Given the description of an element on the screen output the (x, y) to click on. 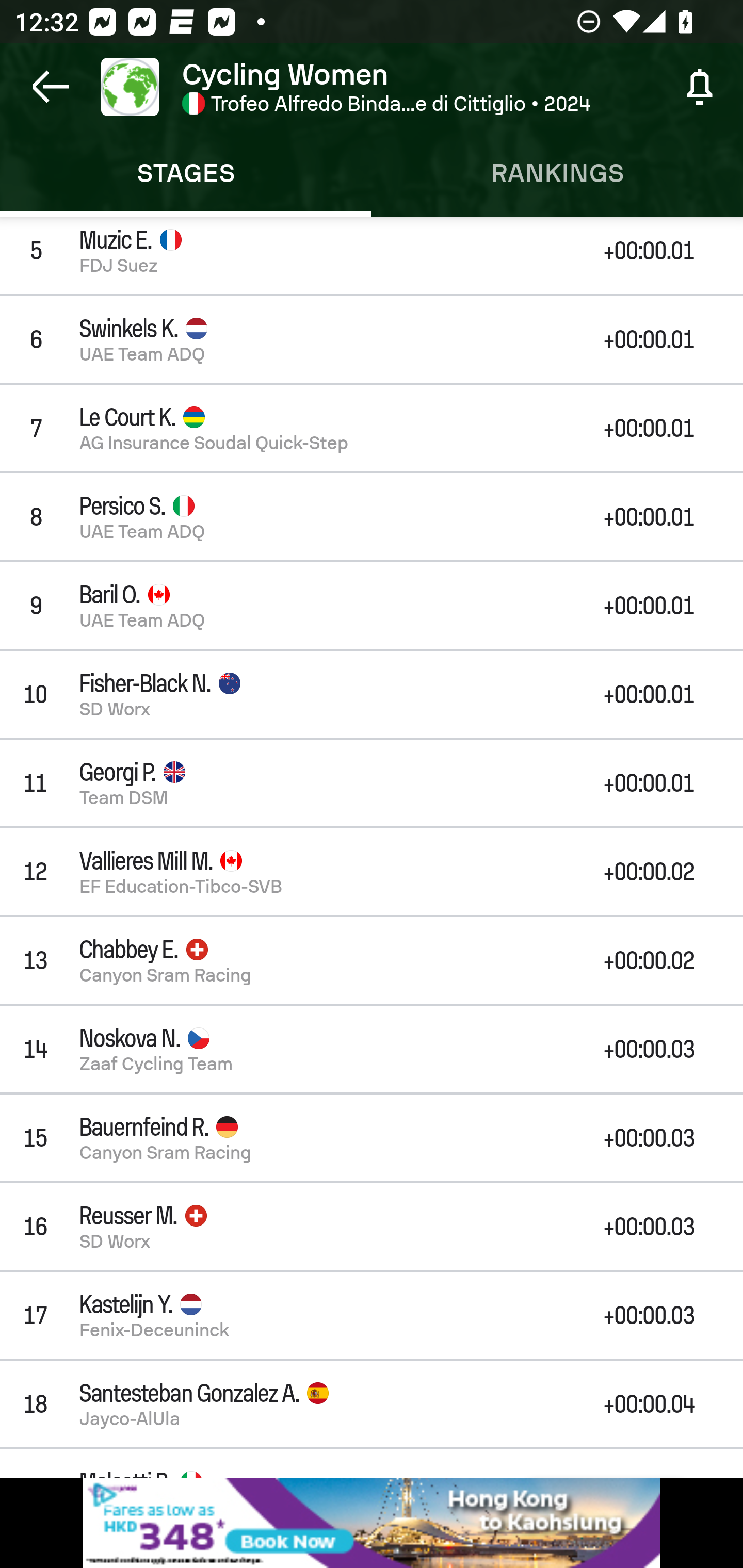
Navigate up (50, 86)
Rankings RANKINGS (557, 173)
5 Muzic E. FDJ Suez +00:00.01 (371, 255)
6 Swinkels K. UAE Team ADQ +00:00.01 (371, 339)
8 Persico S. UAE Team ADQ +00:00.01 (371, 516)
9 Baril O. UAE Team ADQ +00:00.01 (371, 605)
10 Fisher-Black N. SD Worx +00:00.01 (371, 693)
11 Georgi P. Team DSM +00:00.01 (371, 783)
13 Chabbey E. Canyon Sram Racing +00:00.02 (371, 960)
14 Noskova N. Zaaf Cycling Team +00:00.03 (371, 1048)
15 Bauernfeind R. Canyon Sram Racing +00:00.03 (371, 1137)
16 Reusser M. SD Worx +00:00.03 (371, 1226)
17 Kastelijn Y. Fenix-Deceuninck +00:00.03 (371, 1314)
18 Santesteban Gonzalez A. Jayco-AlUla +00:00.04 (371, 1404)
ijqm75ea_320x50 (371, 1522)
